Given the description of an element on the screen output the (x, y) to click on. 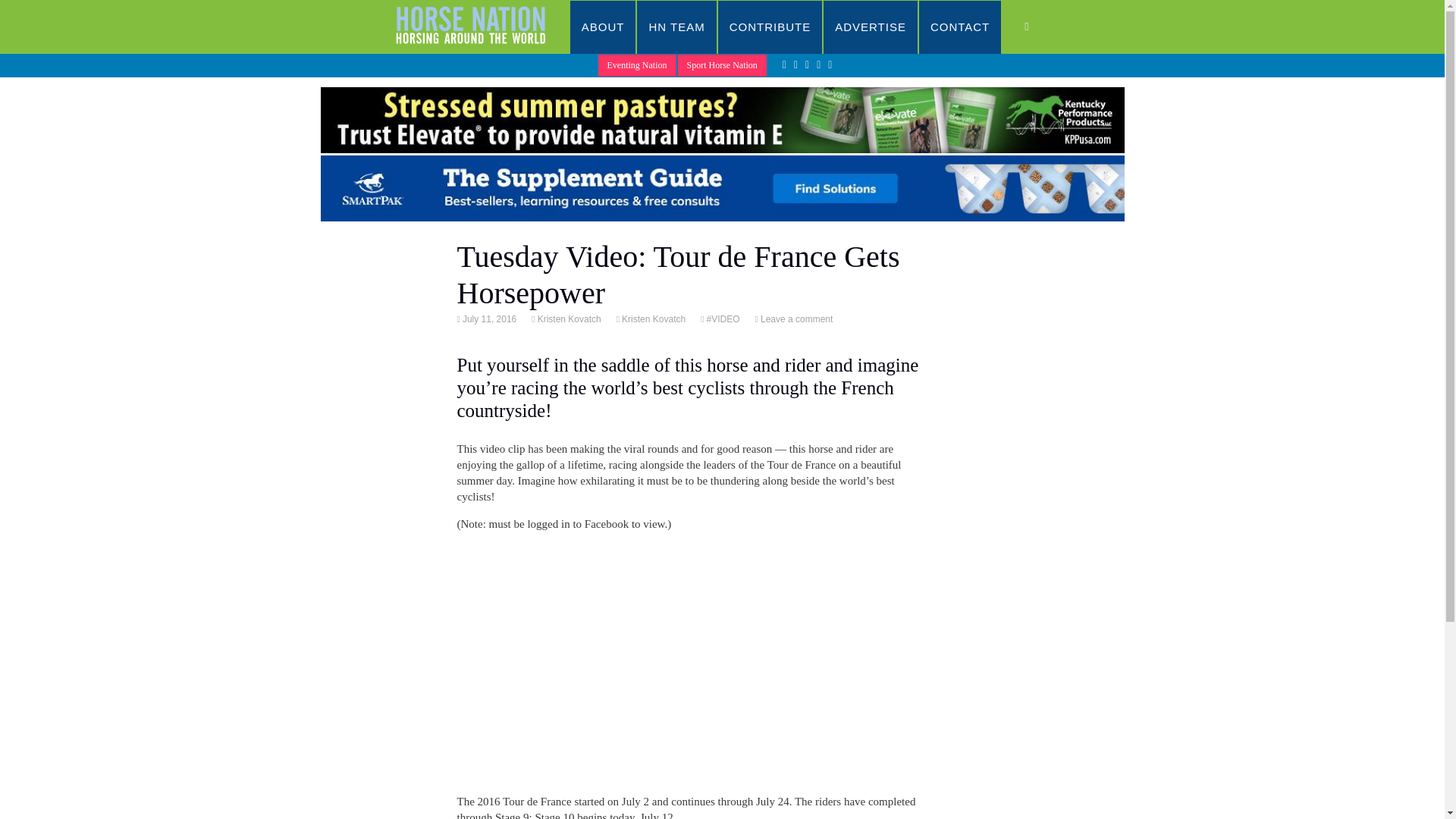
SEARCH (1041, 27)
ABOUT (603, 27)
Eventing Nation (637, 65)
CONTACT (959, 27)
View all posts by Kristen Kovatch (568, 318)
ADVERTISE (870, 27)
Leave a comment (795, 318)
HN TEAM (676, 27)
Sport Horse Nation (722, 65)
Permalink to Tuesday Video: Tour de France Gets Horsepower (488, 318)
